Given the description of an element on the screen output the (x, y) to click on. 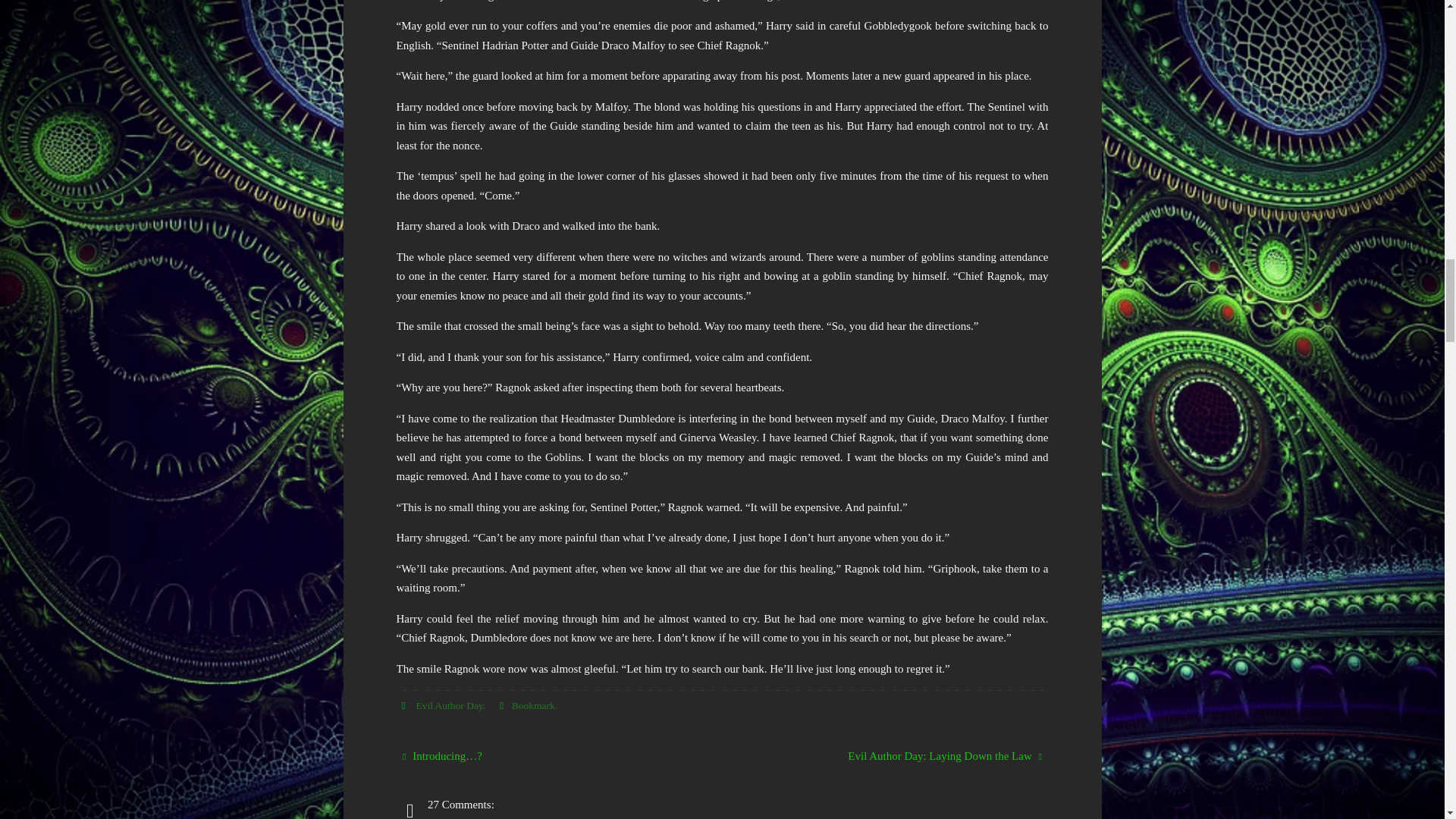
Evil Author Day: Laying Down the Law (894, 756)
Permalink to Evil Author Day: The Greater Evil (533, 705)
 Bookmark the permalink (501, 705)
Evil Author Day (447, 705)
Tagged (403, 705)
Bookmark (533, 705)
